Given the description of an element on the screen output the (x, y) to click on. 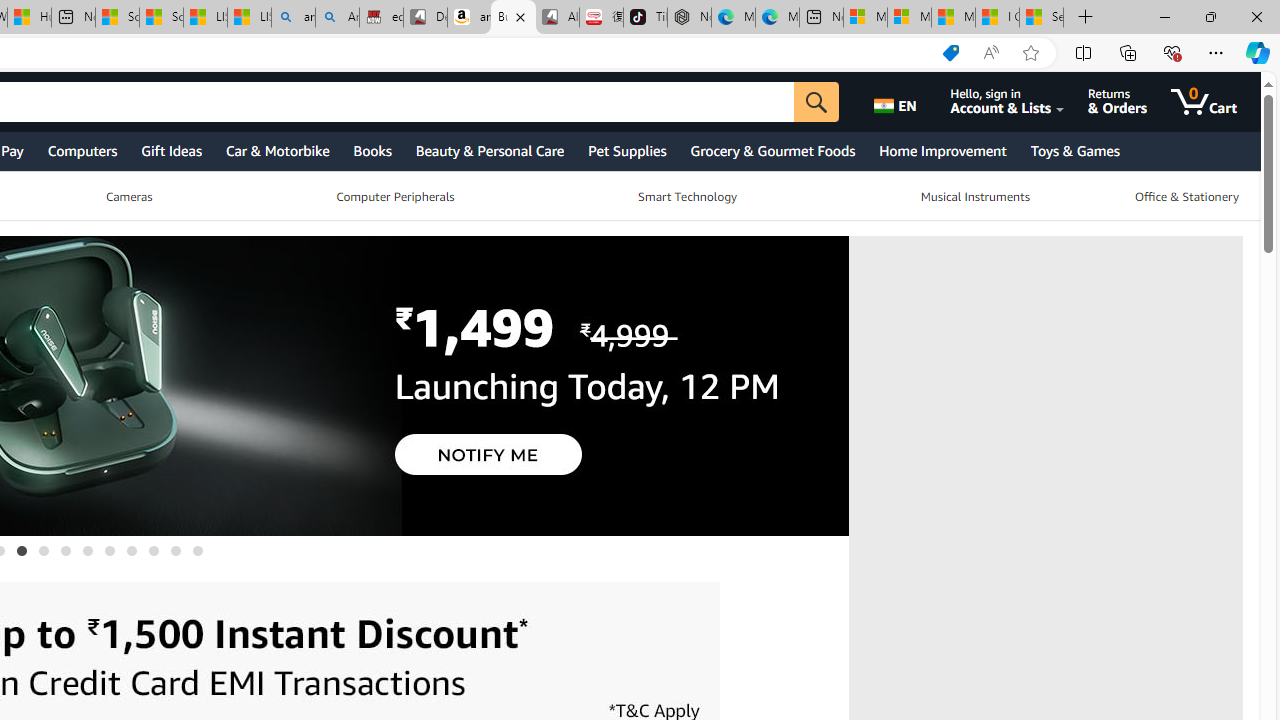
Choose a language for shopping. (906, 101)
Returns & Orders (1132, 101)
Hello, sign in Account & Lists (1018, 101)
Pet Supplies (626, 150)
TikTok (644, 17)
I Gained 20 Pounds of Muscle in 30 Days! | Watch (996, 17)
amazon.in/dp/B0CX59H5W7/?tag=gsmcom05-21 (469, 17)
